Given the description of an element on the screen output the (x, y) to click on. 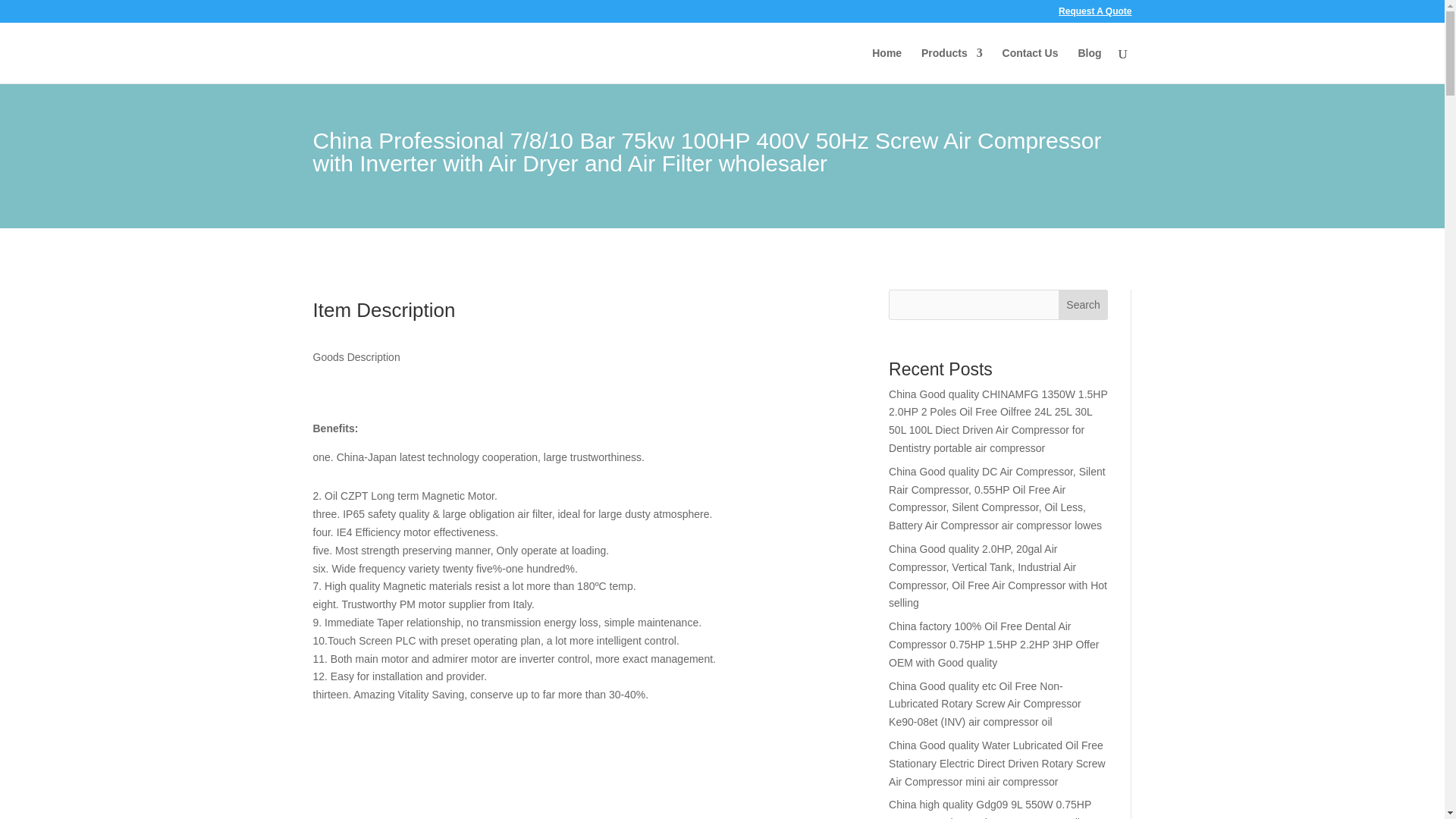
Request A Quote (1094, 14)
Products (951, 65)
Contact Us (1030, 65)
